Given the description of an element on the screen output the (x, y) to click on. 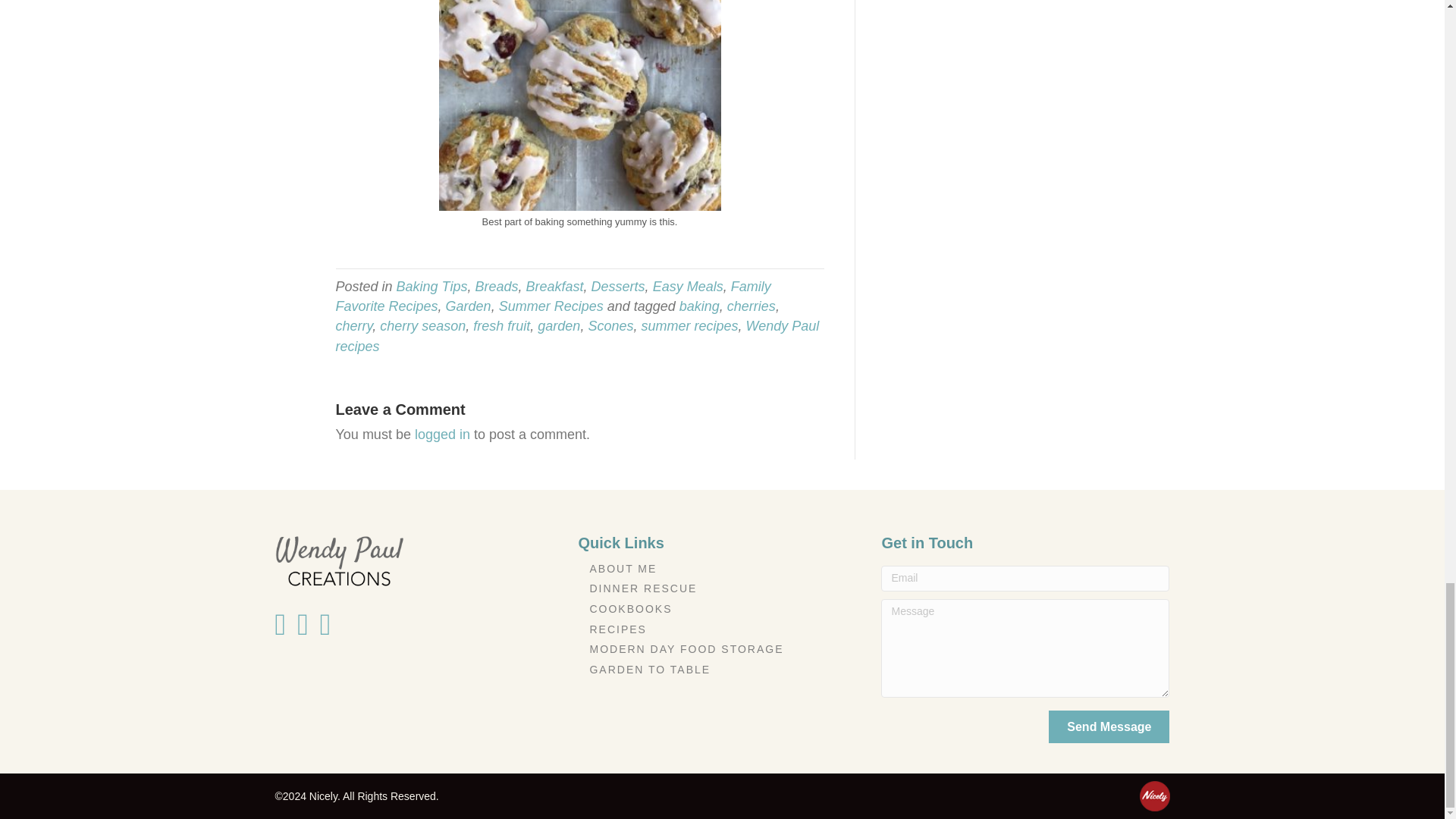
baking (699, 305)
cherry (353, 325)
cherries (751, 305)
Wendy Paul Creations (339, 561)
Summer Recipes (551, 305)
Family Favorite Recipes (552, 296)
Desserts (618, 286)
Breads (496, 286)
Multimedia Made Nicely (1153, 796)
Baking Tips (431, 286)
